Given the description of an element on the screen output the (x, y) to click on. 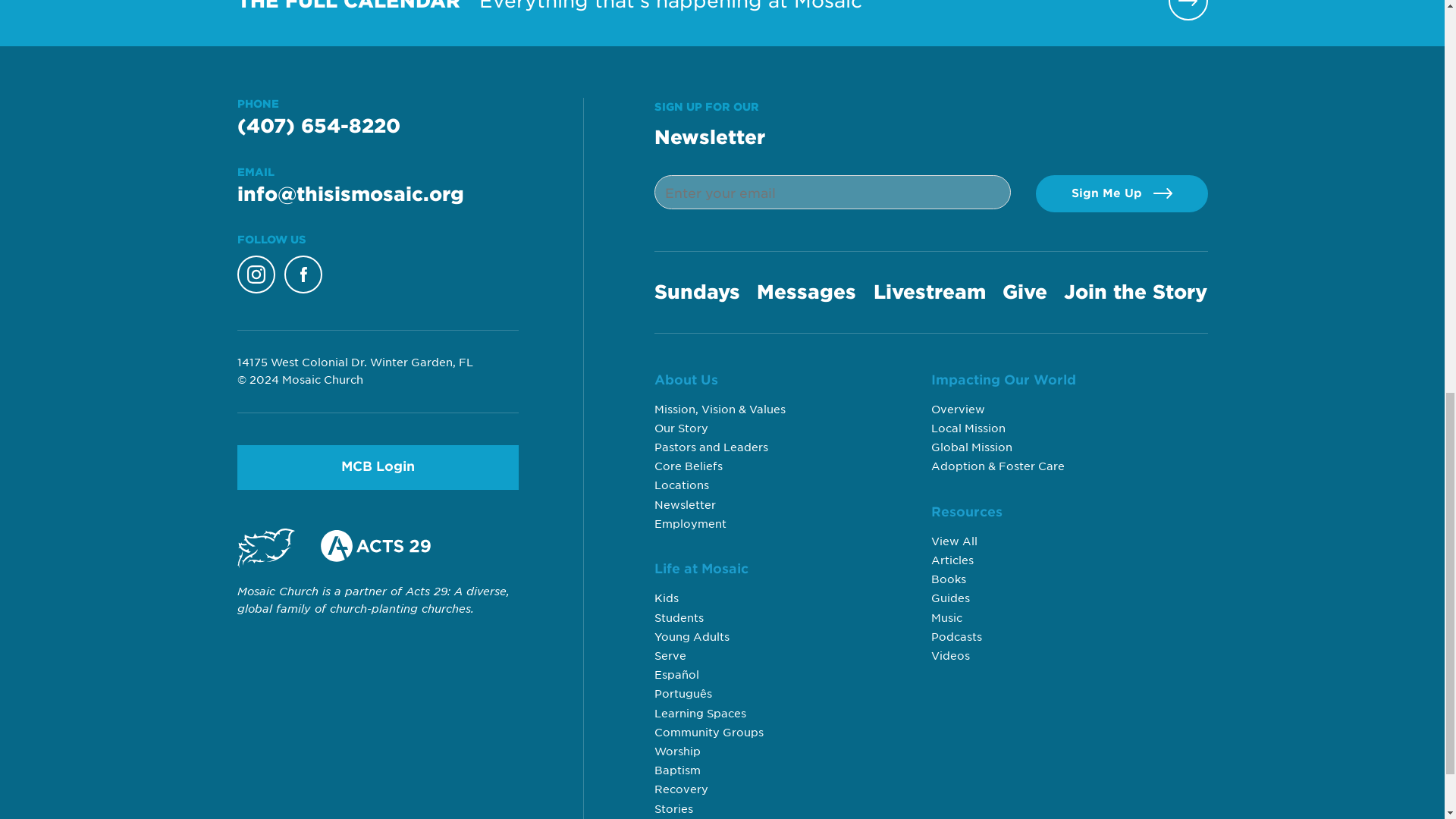
Facebook (302, 274)
Instagram (255, 274)
